Given the description of an element on the screen output the (x, y) to click on. 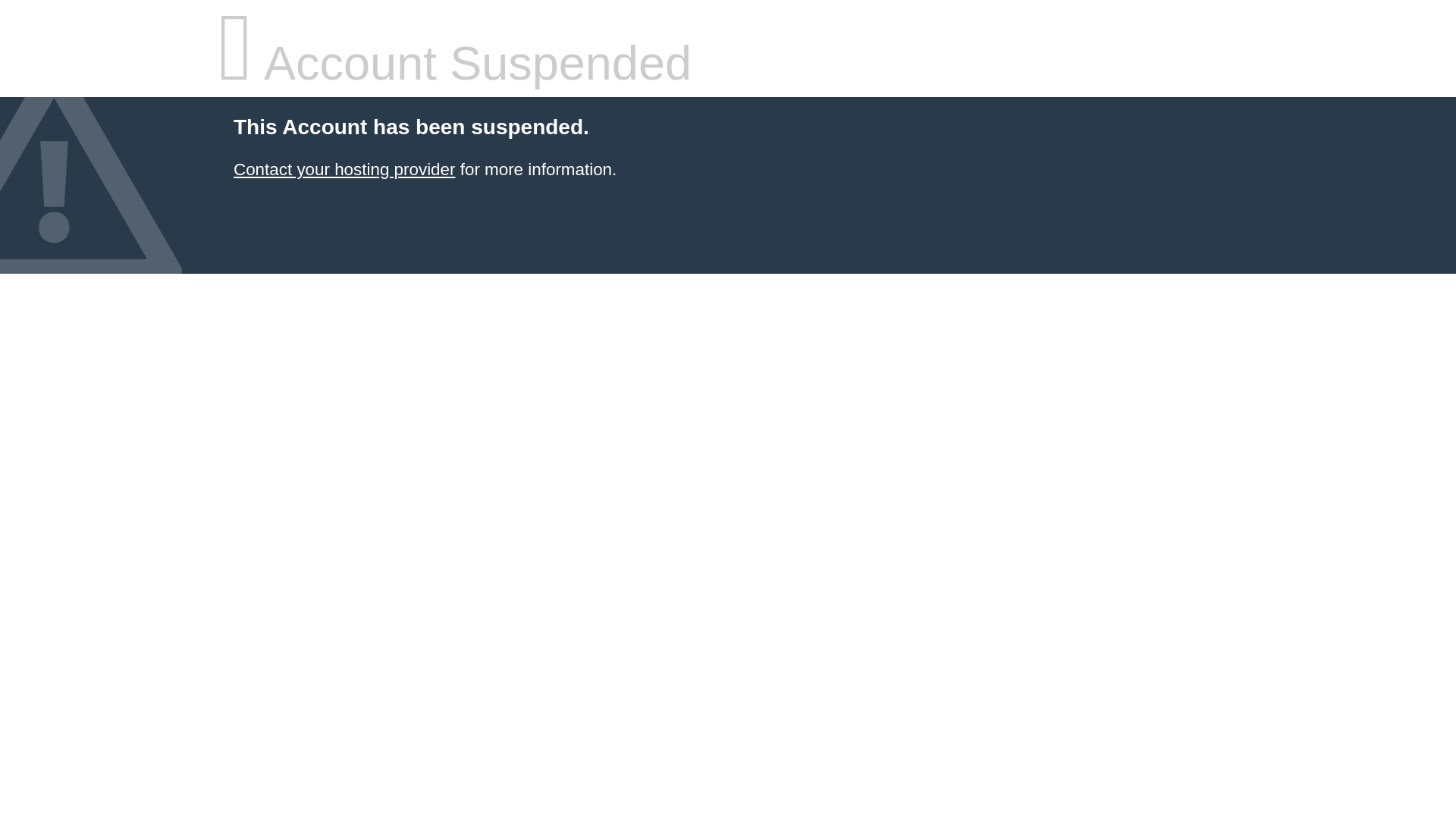
Contact your hosting provider Element type: text (344, 169)
